Given the description of an element on the screen output the (x, y) to click on. 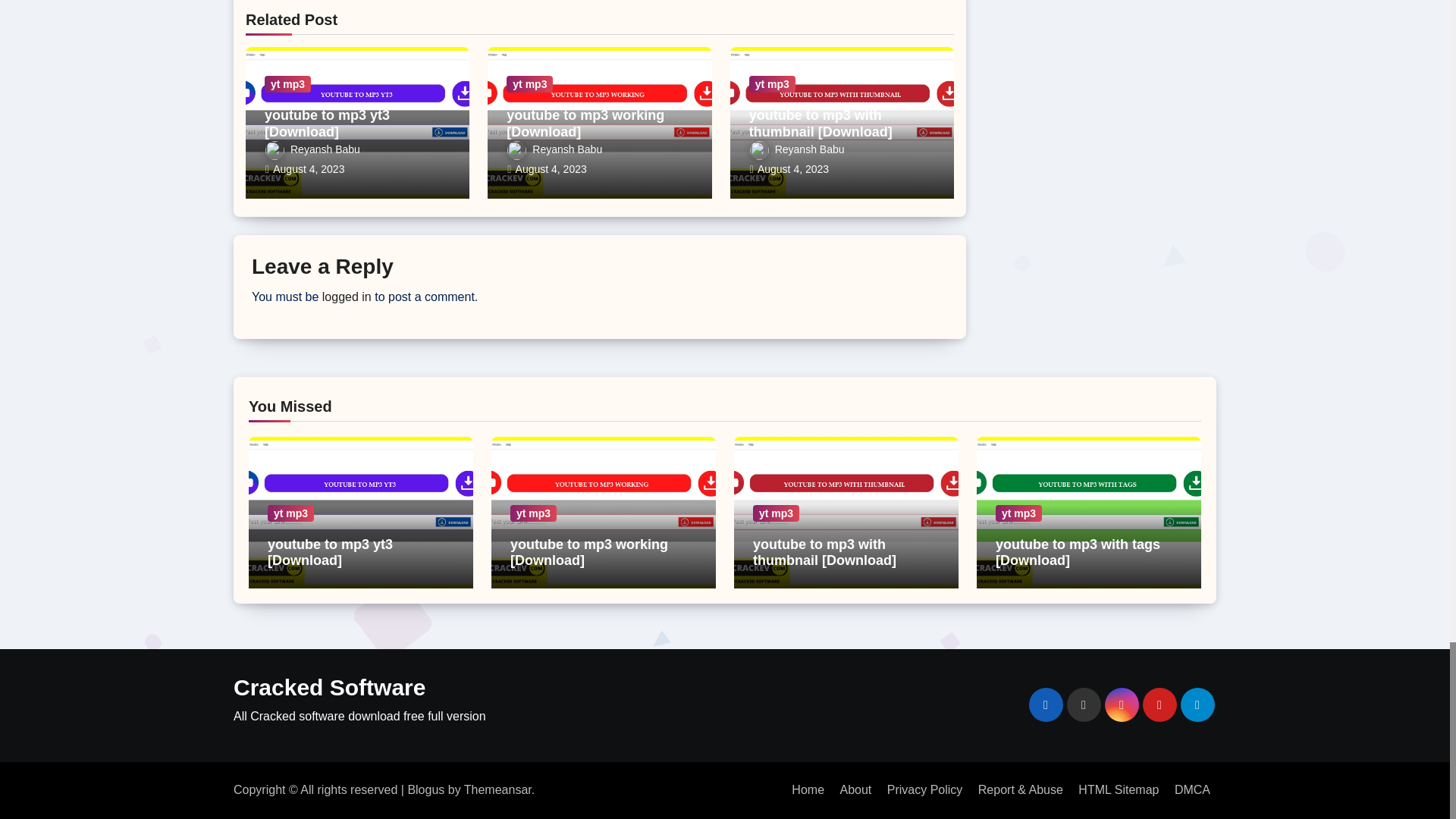
HTML Sitemap (1117, 789)
Privacy Policy (924, 789)
About (855, 789)
Home (807, 789)
